Given the description of an element on the screen output the (x, y) to click on. 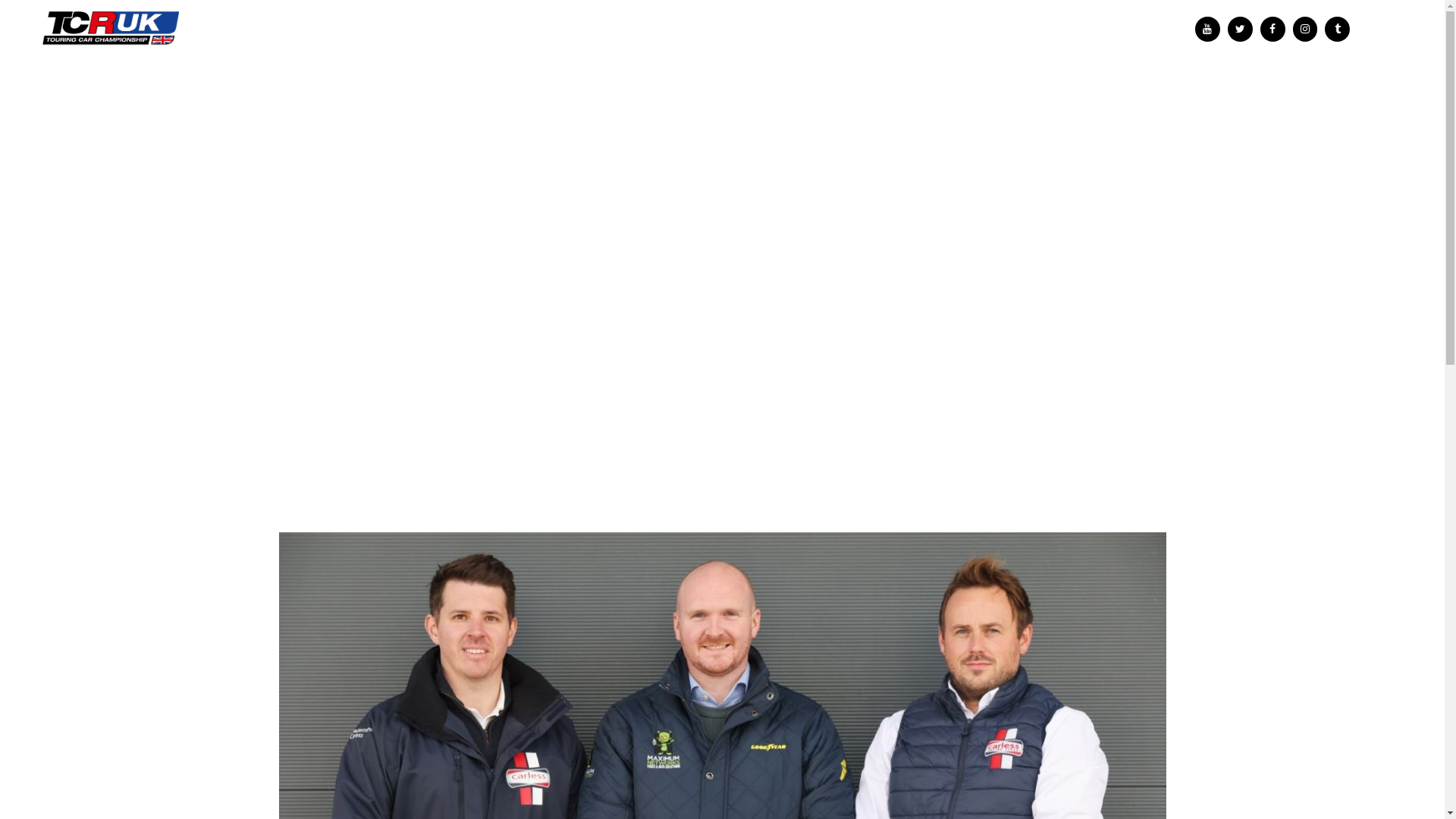
Home (520, 368)
All Posts (586, 367)
